Given the description of an element on the screen output the (x, y) to click on. 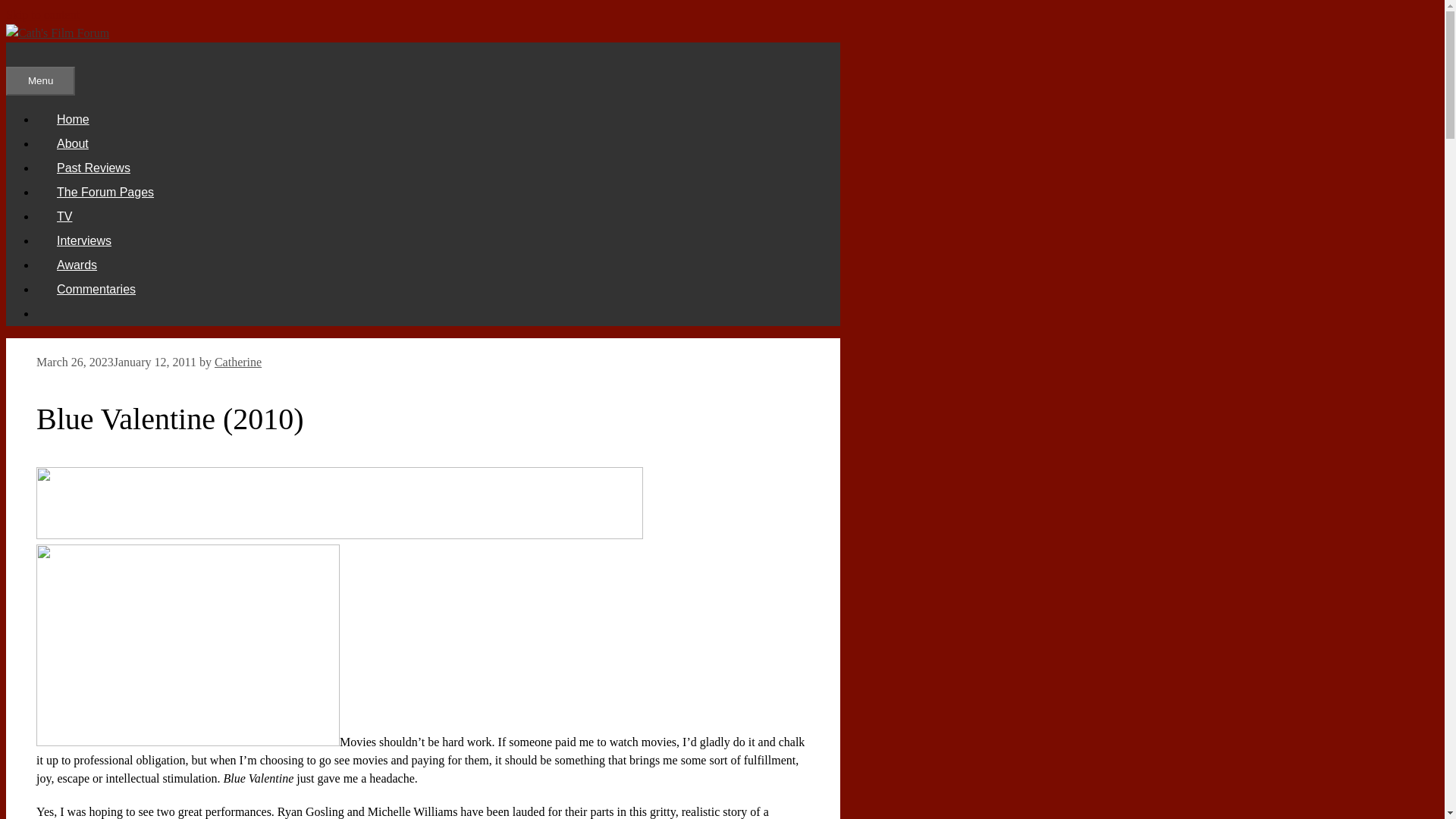
Interviews (84, 240)
The Forum Pages (105, 192)
Home (73, 119)
Commentaries (95, 288)
Catherine (238, 361)
About (72, 143)
Skip to content (42, 14)
View all posts by Catherine (238, 361)
Menu (40, 80)
TV (64, 215)
Awards (76, 264)
Past Reviews (93, 167)
Skip to content (42, 14)
